Given the description of an element on the screen output the (x, y) to click on. 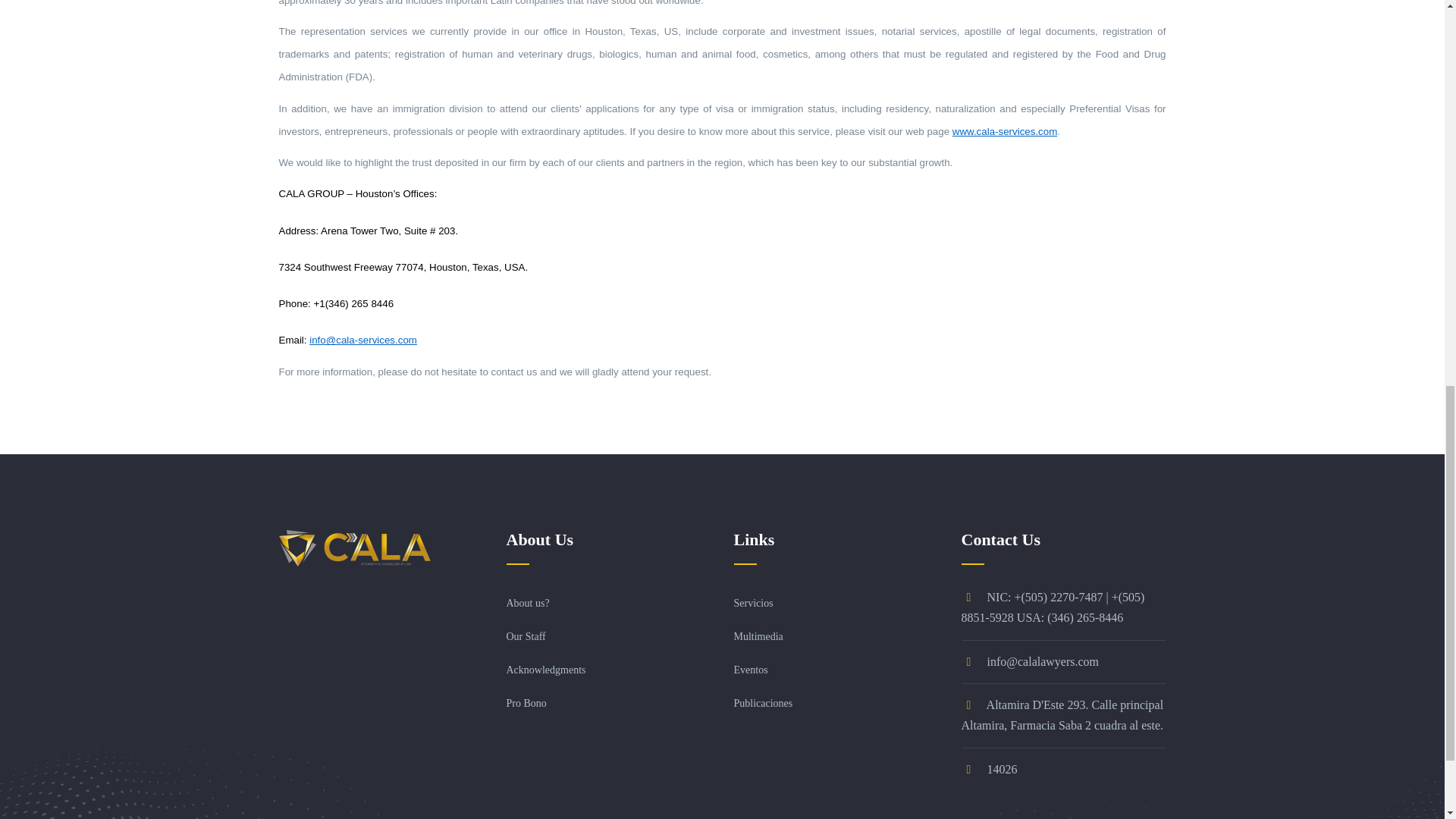
Our Staff (526, 636)
Servicios (753, 603)
About us? (528, 603)
www.cala-services.com (1005, 131)
Multimedia (758, 636)
Acknowledgments (546, 669)
Pro Bono (526, 703)
Eventos (750, 669)
Publicaciones (763, 703)
